Given the description of an element on the screen output the (x, y) to click on. 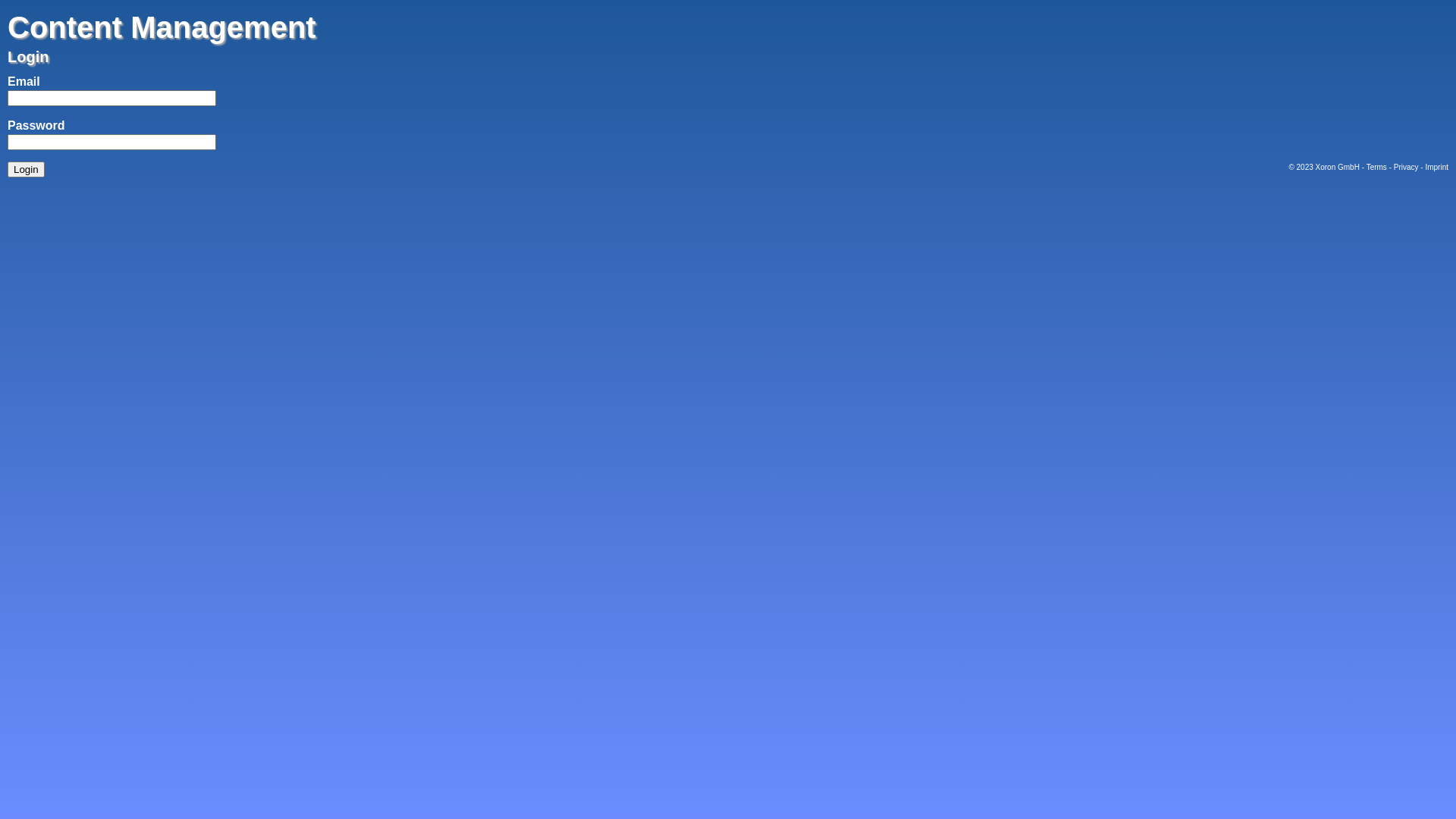
Imprint Element type: text (1436, 167)
Xoron Element type: text (1325, 167)
Privacy Element type: text (1405, 167)
Terms Element type: text (1376, 167)
Login Element type: text (25, 169)
